Given the description of an element on the screen output the (x, y) to click on. 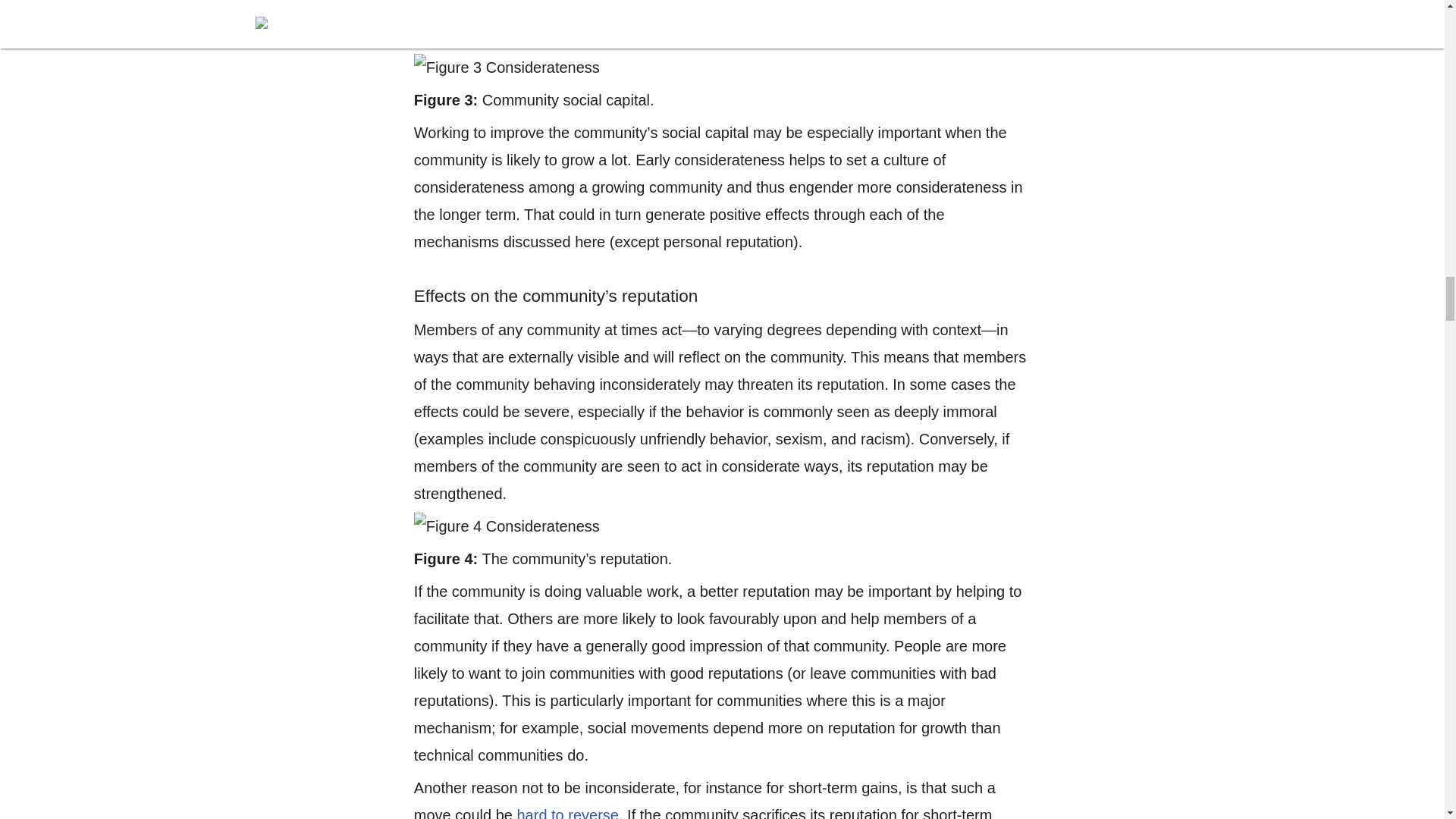
hard to reverse (567, 812)
